Given the description of an element on the screen output the (x, y) to click on. 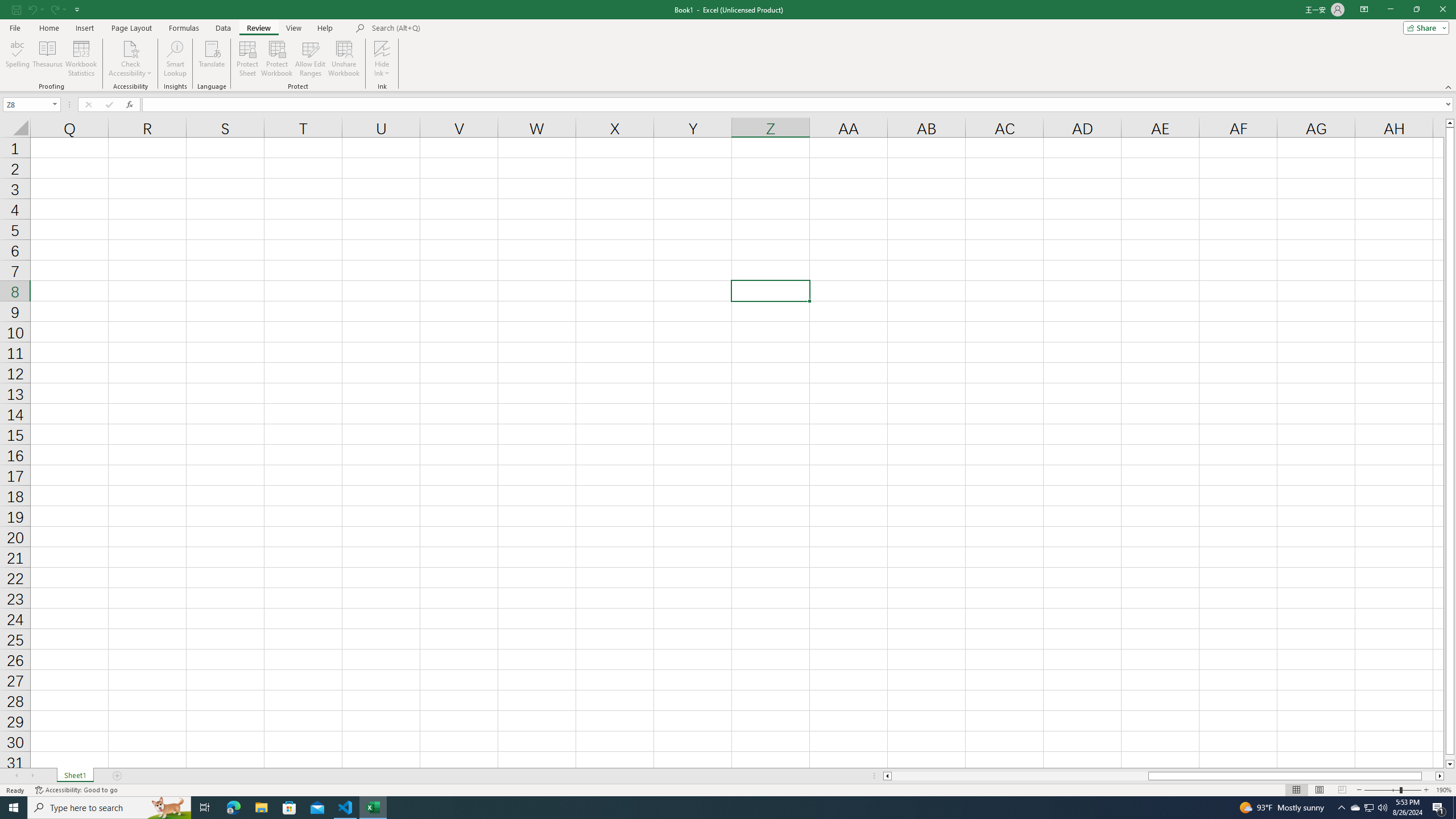
Allow Edit Ranges (310, 58)
Restore Down (1416, 9)
Page right (1428, 775)
Ribbon Display Options (1364, 9)
Formulas (184, 28)
Workbook Statistics (81, 58)
Hide Ink (381, 58)
Normal (1296, 790)
Page left (1019, 775)
Help (325, 28)
Column left (886, 775)
Close (1442, 9)
Open (54, 104)
Zoom Out (1381, 790)
Redo (57, 9)
